Given the description of an element on the screen output the (x, y) to click on. 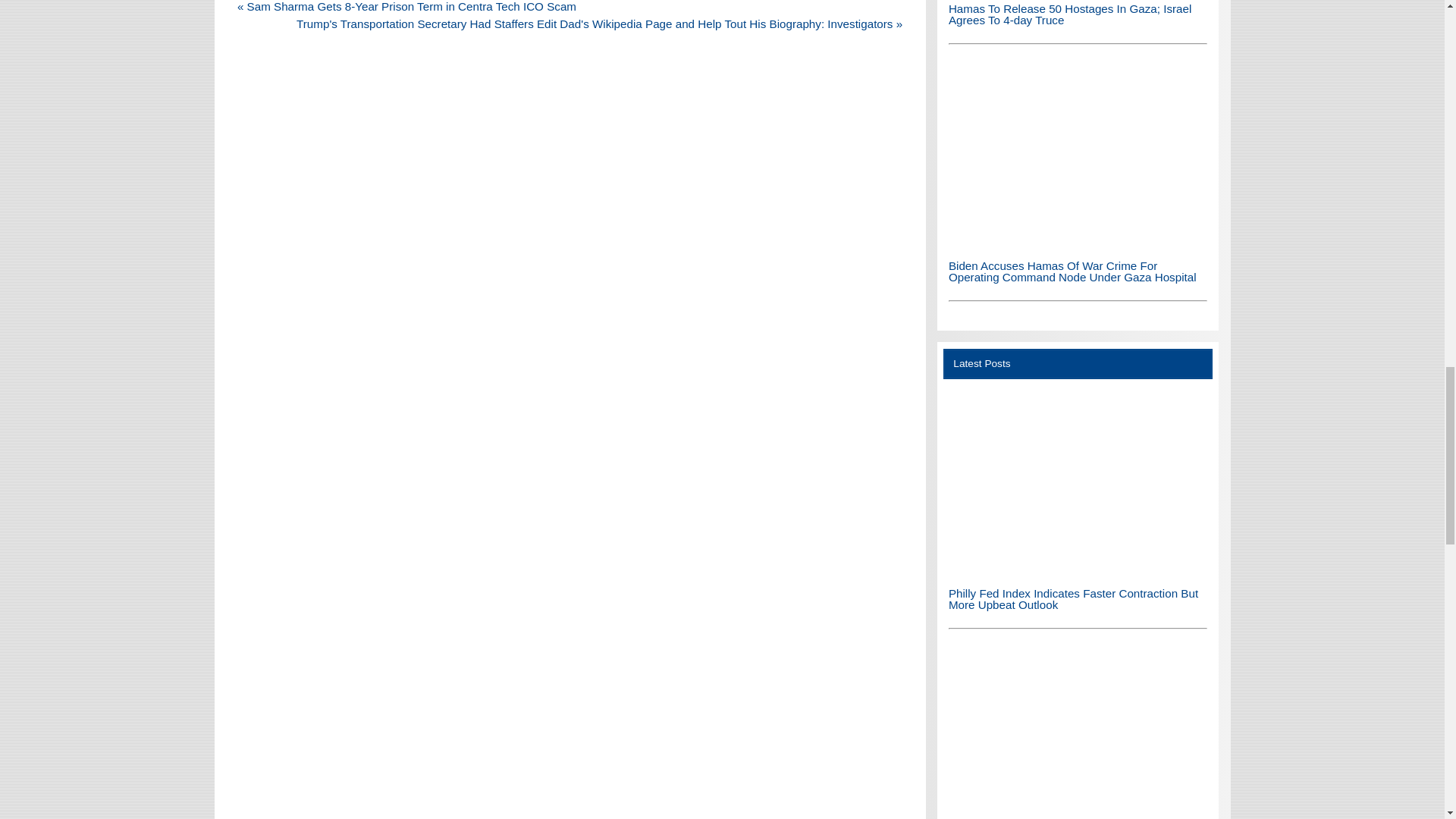
Solana Sparkles In Crypto Rally (1078, 733)
